Given the description of an element on the screen output the (x, y) to click on. 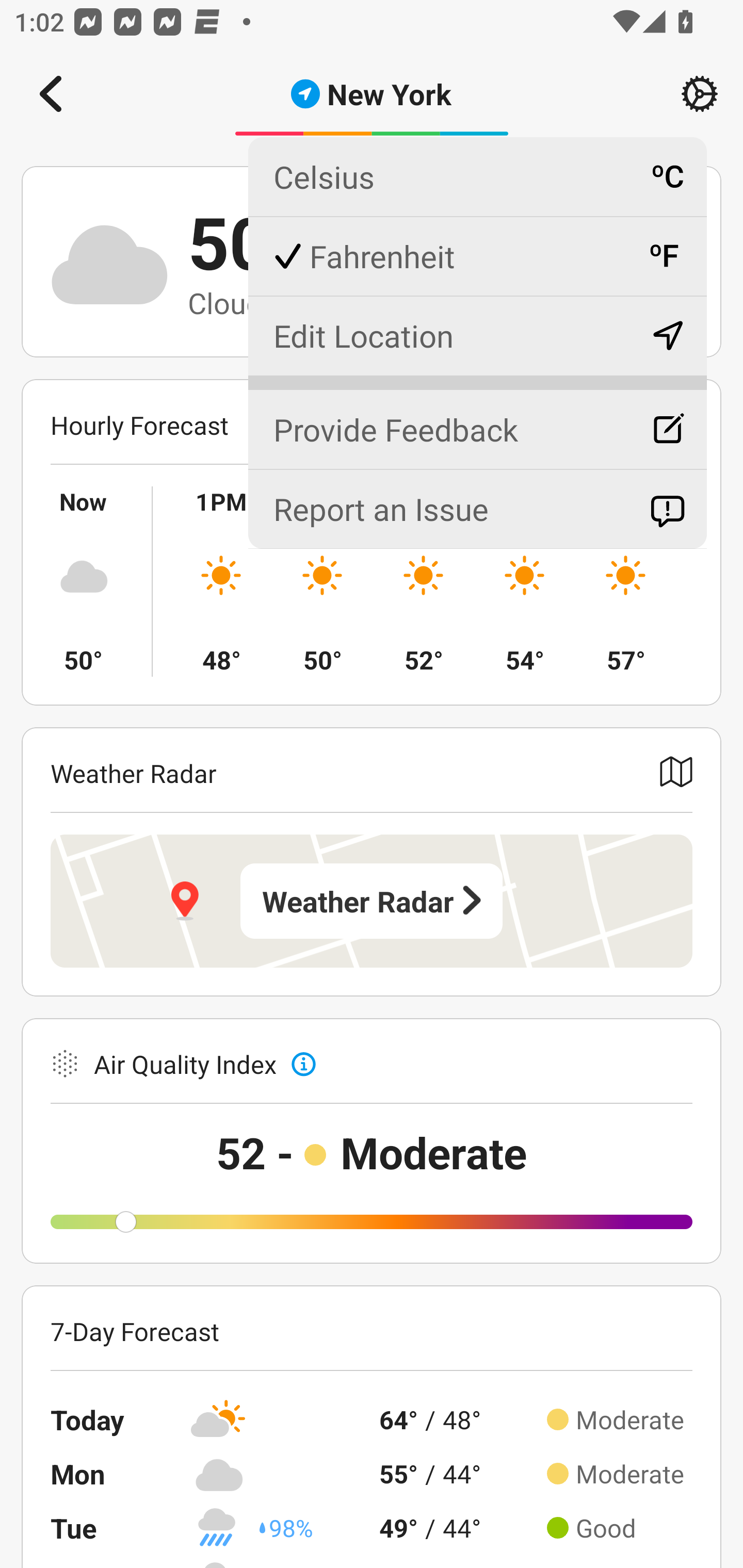
Celsius (477, 176)
Fahrenheit (477, 256)
Edit Location (477, 335)
Provide Feedback (477, 421)
Report an Issue (477, 508)
